Given the description of an element on the screen output the (x, y) to click on. 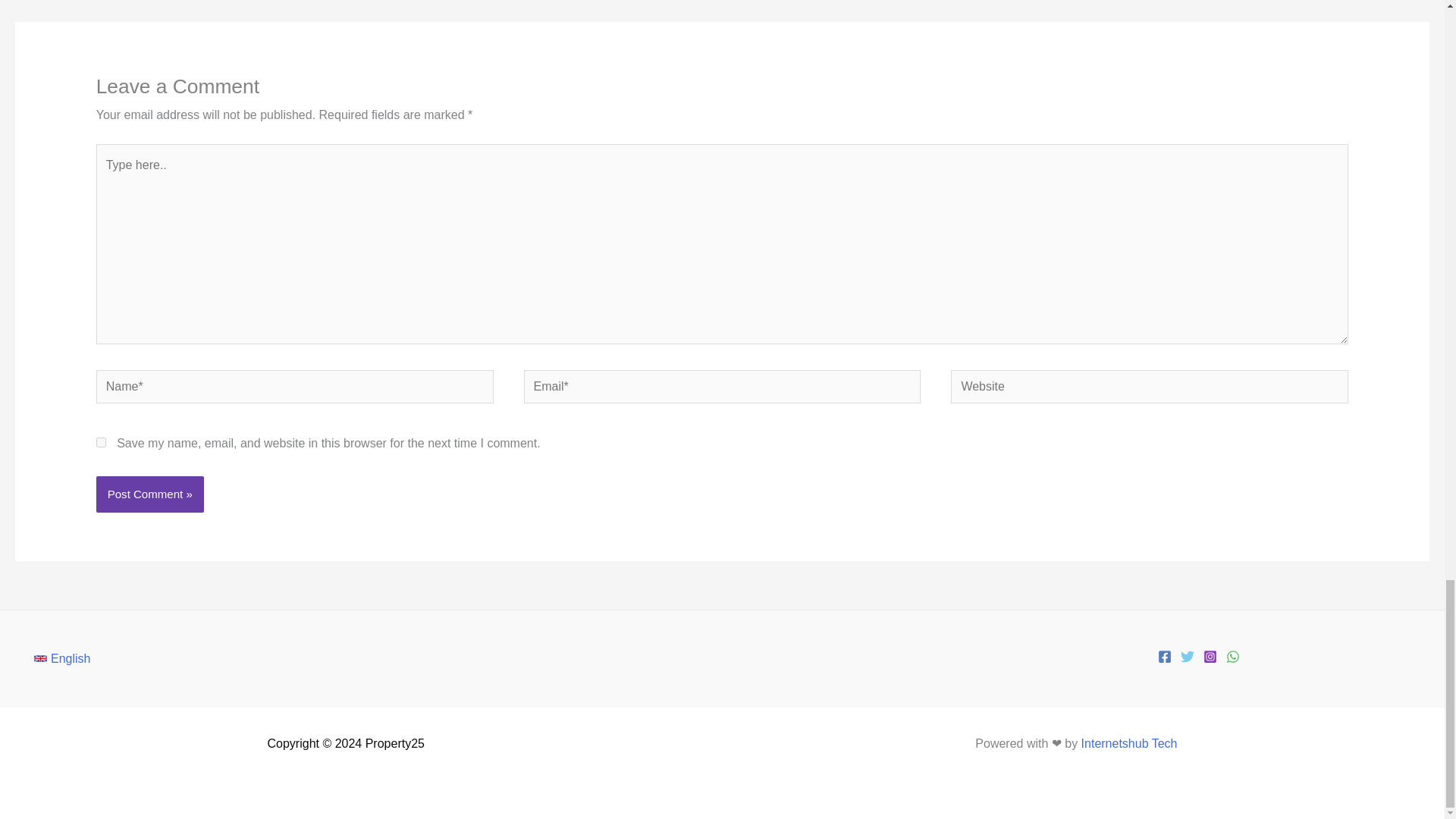
English (61, 658)
Internetshub Tech (1129, 743)
yes (101, 442)
